Given the description of an element on the screen output the (x, y) to click on. 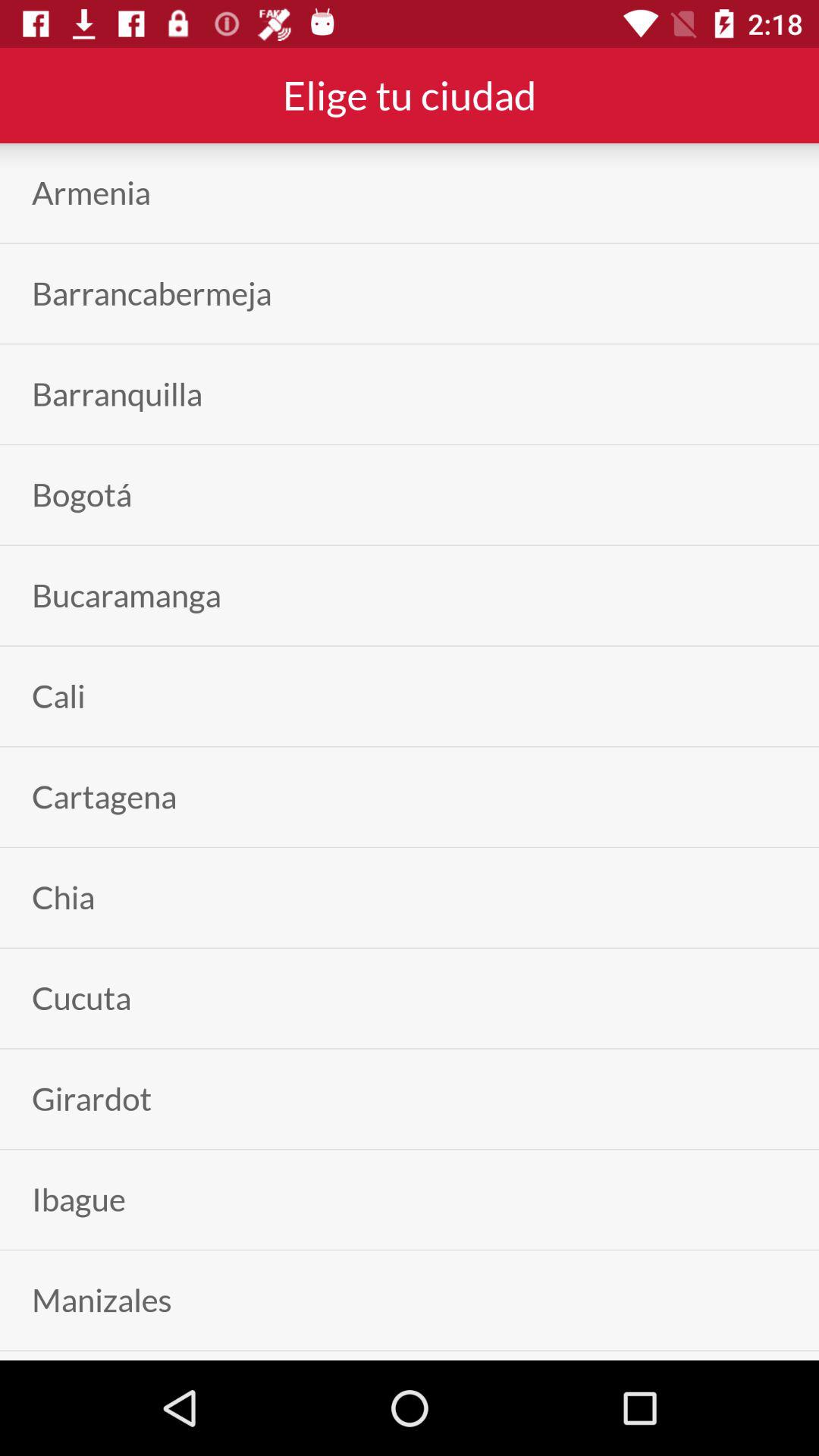
swipe until the chia (62, 897)
